Given the description of an element on the screen output the (x, y) to click on. 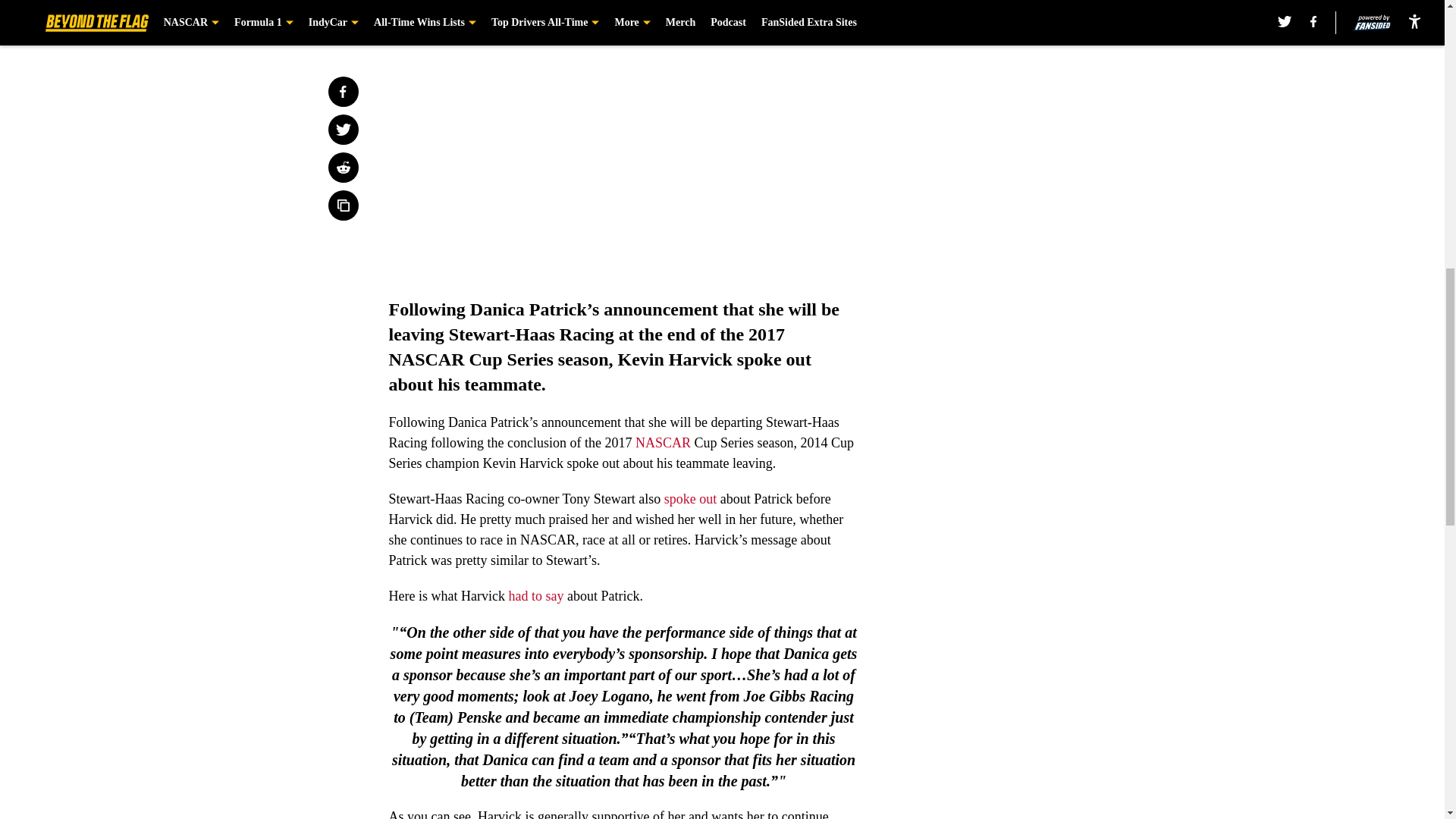
spoke out (690, 498)
NASCAR (662, 442)
had to say (535, 595)
